Given the description of an element on the screen output the (x, y) to click on. 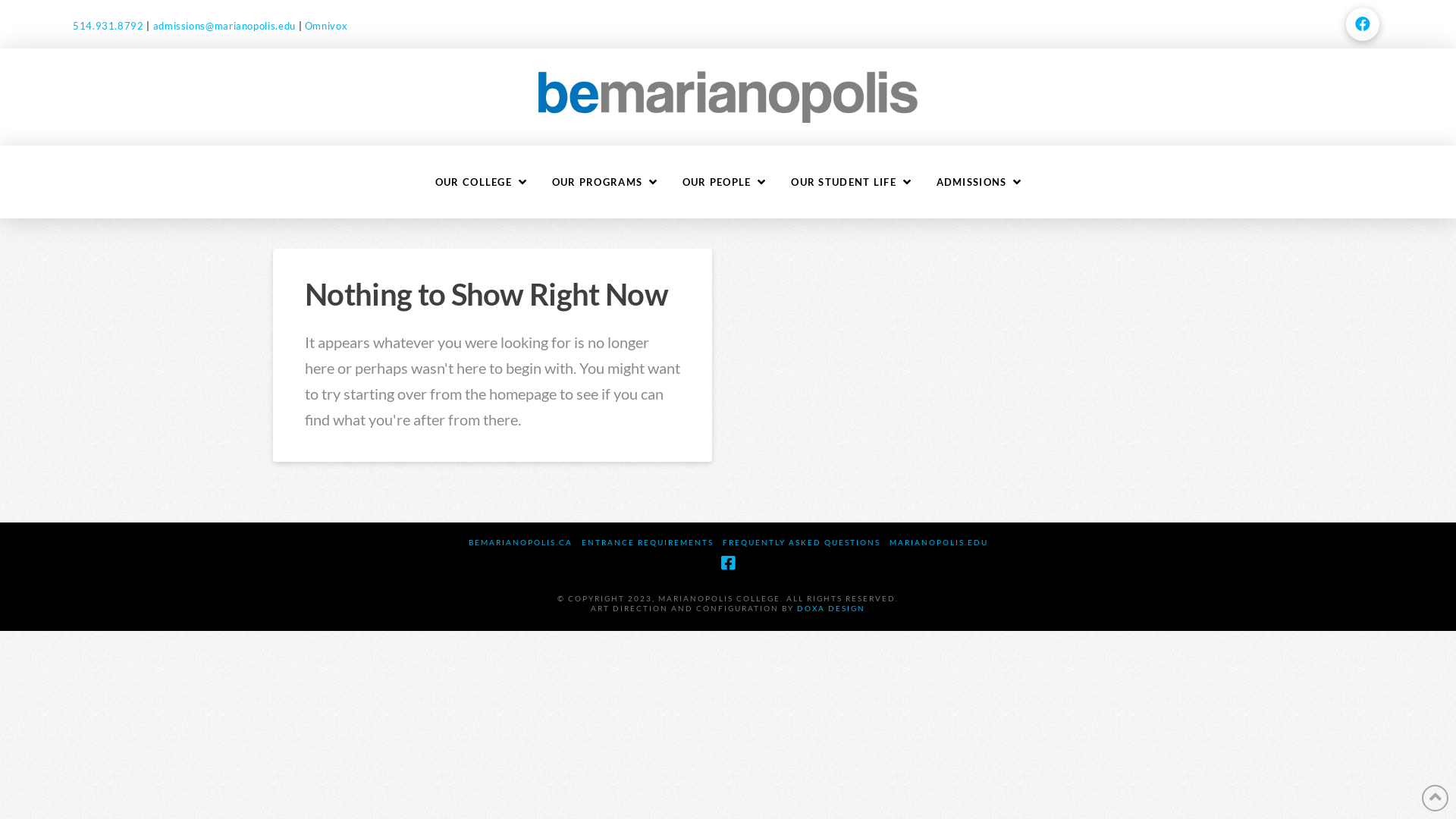
OUR PROGRAMS Element type: text (604, 181)
DOXA DESIGN Element type: text (831, 607)
OUR PEOPLE Element type: text (723, 181)
FREQUENTLY ASKED QUESTIONS Element type: text (800, 542)
ENTRANCE REQUIREMENTS Element type: text (646, 542)
admissions@marianopolis.edu Element type: text (224, 25)
Facebook Element type: hover (727, 563)
ADMISSIONS Element type: text (978, 181)
BEMARIANOPOLIS.CA Element type: text (520, 542)
Back to Top Element type: hover (1434, 797)
OUR STUDENT LIFE Element type: text (850, 181)
MARIANOPOLIS.EDU Element type: text (937, 542)
514.931.8792 Element type: text (108, 25)
OUR COLLEGE Element type: text (480, 181)
Omnivox Element type: text (325, 25)
